Given the description of an element on the screen output the (x, y) to click on. 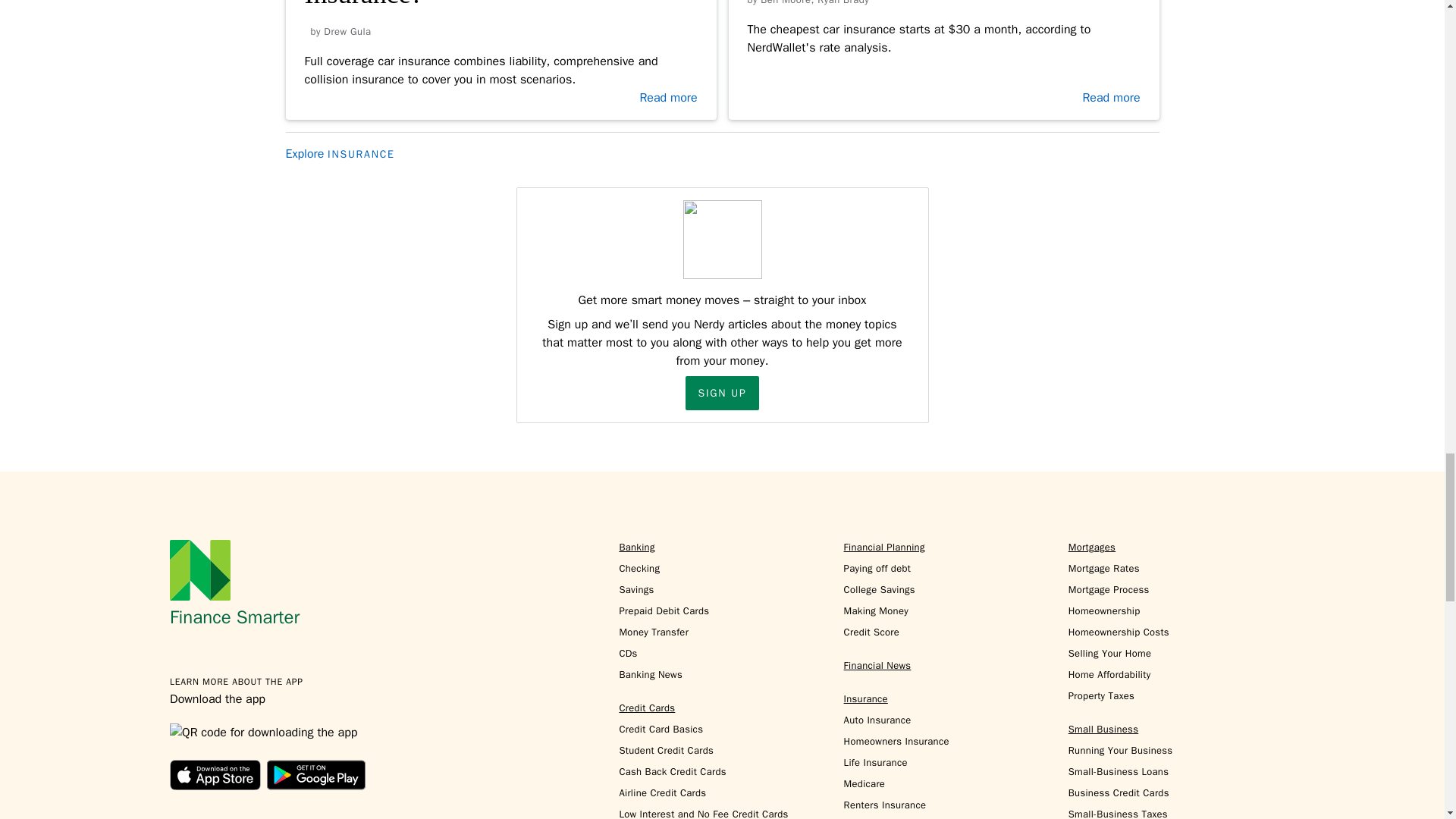
Download on the App Store (215, 775)
Get it on Google Play (315, 775)
NerdWallet Home Page (200, 569)
